Given the description of an element on the screen output the (x, y) to click on. 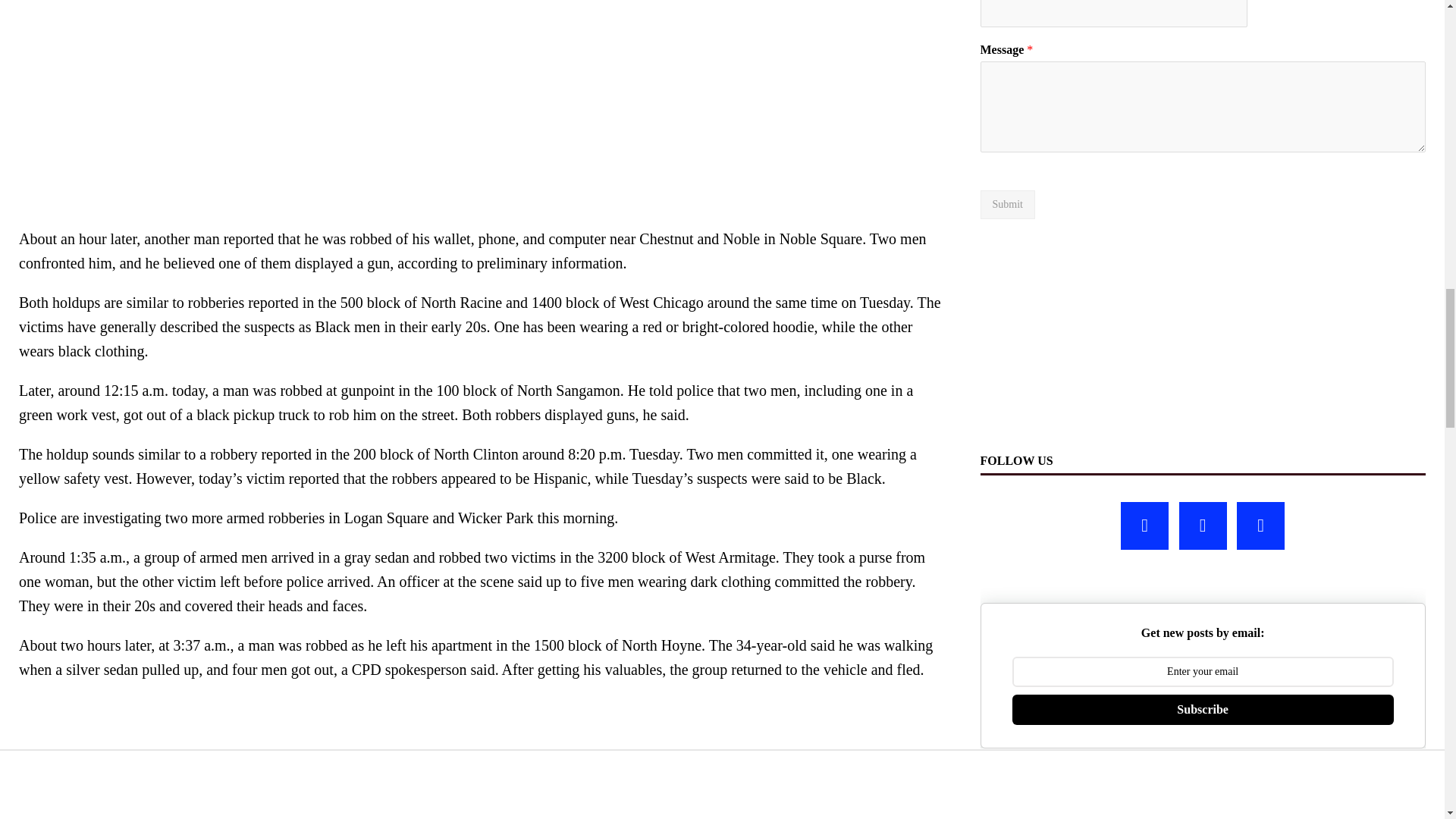
Subscribe (1202, 709)
Submit (1007, 204)
